Given the description of an element on the screen output the (x, y) to click on. 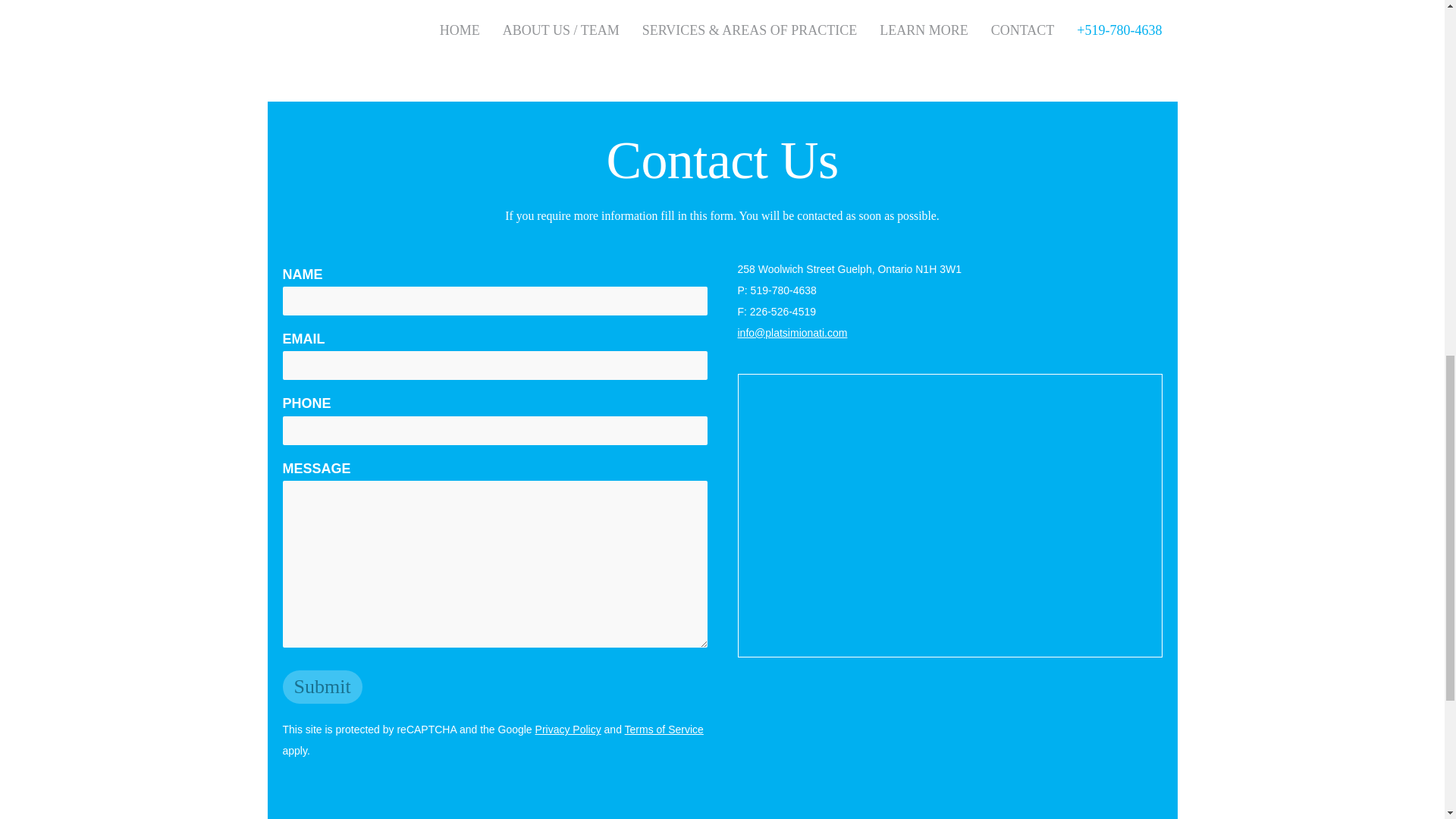
Terms of Service (663, 729)
Submit (321, 686)
Privacy Policy (568, 729)
